Given the description of an element on the screen output the (x, y) to click on. 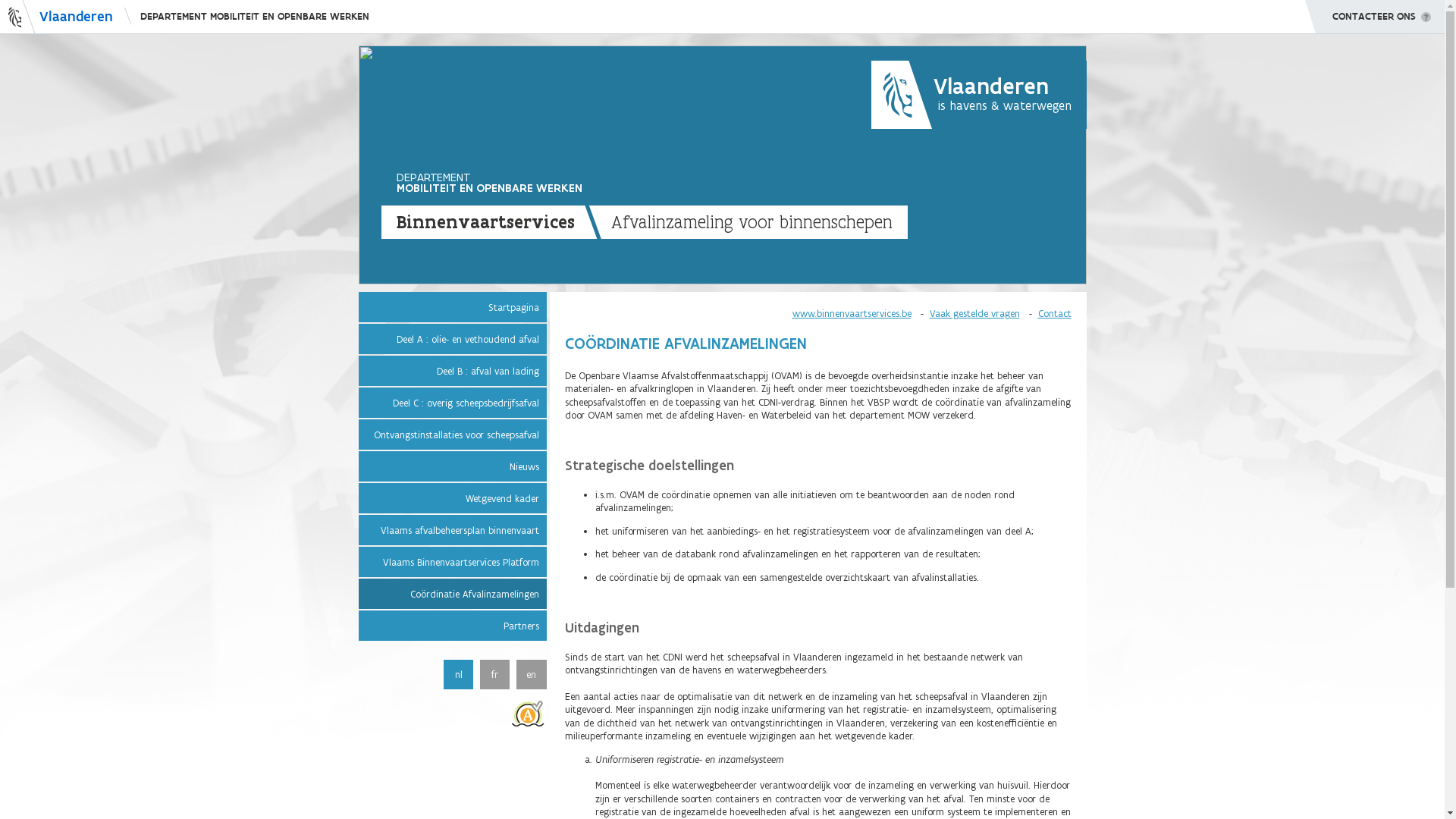
fr Element type: text (494, 674)
en Element type: text (531, 674)
DEPARTEMENT MOBILITEIT EN OPENBARE WERKEN Element type: text (246, 16)
Vaak gestelde vragen Element type: text (974, 313)
Startpagina Element type: text (451, 306)
www.binnenvaartservices.be Element type: text (850, 313)
Deel A : olie- en vethoudend afval Element type: text (451, 338)
Vlaanderen Element type: text (56, 16)
Deel C : overig scheepsbedrijfsafval Element type: text (451, 402)
Partners Element type: text (451, 625)
TOON MENU
CONTACTEER ONS Element type: text (1374, 16)
Binnenvaartservices Element type: text (490, 221)
Deel B : afval van lading Element type: text (451, 370)
Wetgevend kader Element type: text (451, 498)
Vlaams Binnenvaartservices Platform Element type: text (451, 561)
Vlaams afvalbeheersplan binnenvaart Element type: text (451, 529)
Afvalinzameling voor binnenschepen Element type: text (744, 221)
Nieuws Element type: text (451, 466)
Ontvangstinstallaties voor scheepsafval Element type: text (451, 434)
nl Element type: text (458, 674)
Contact Element type: text (1053, 313)
DEPARTEMENT
MOBILITEIT EN OPENBARE WERKEN Element type: text (488, 182)
